Given the description of an element on the screen output the (x, y) to click on. 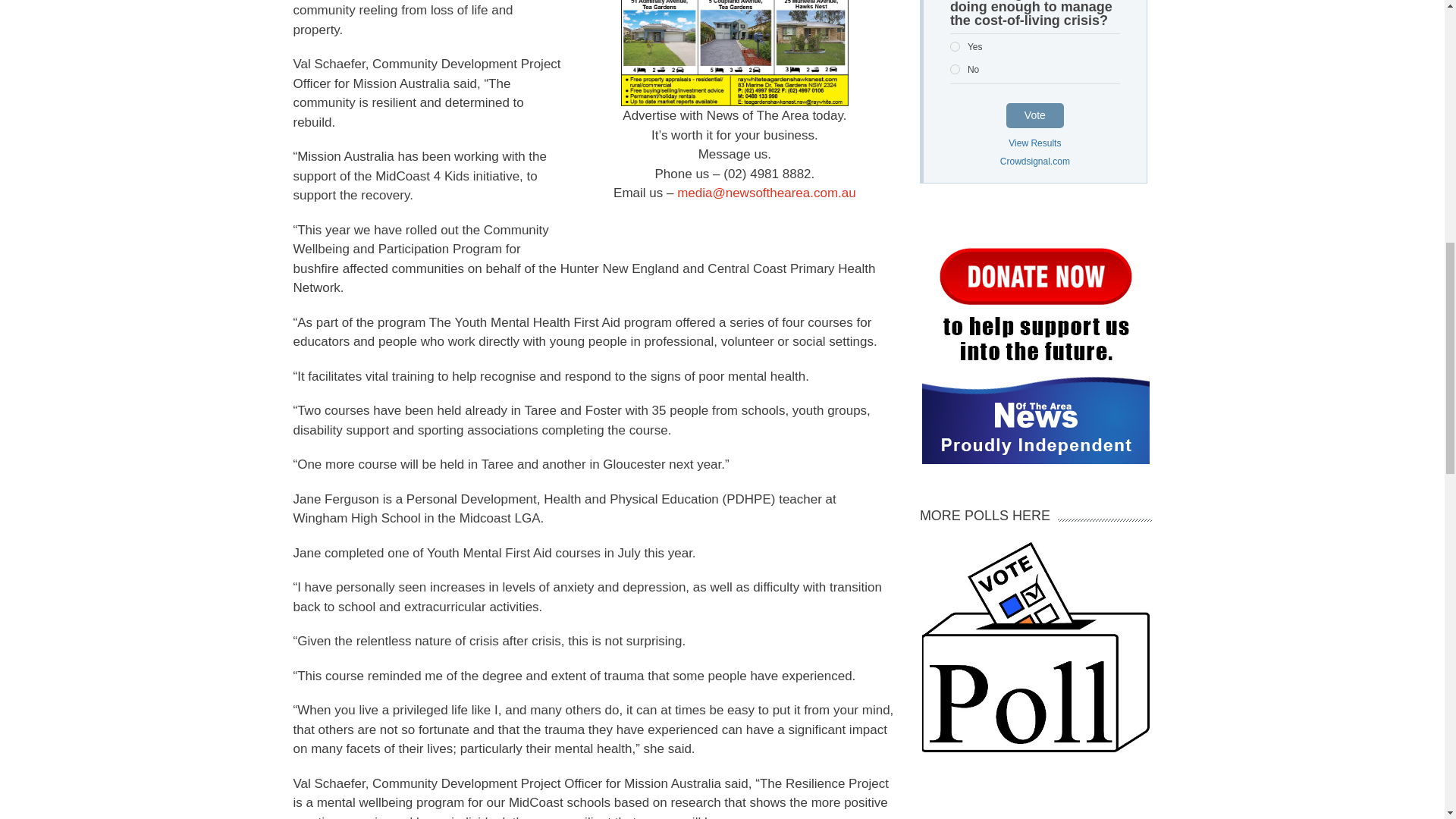
60815114 (954, 69)
60815113 (954, 46)
